Given the description of an element on the screen output the (x, y) to click on. 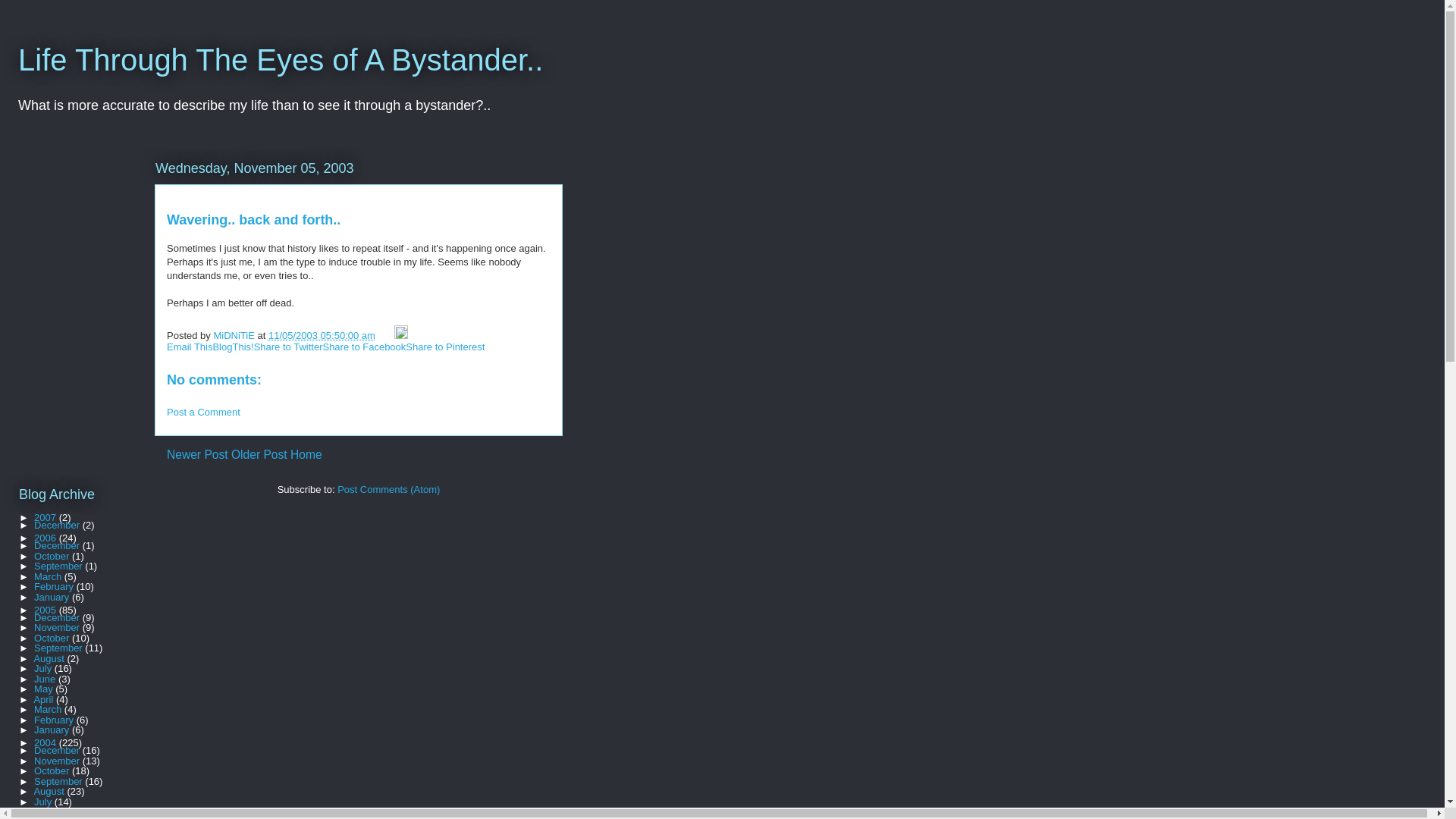
Edit Post (400, 335)
Newer Post (197, 454)
Life Through The Eyes of A Bystander.. (280, 59)
Share to Facebook (363, 346)
Share to Pinterest (445, 346)
author profile (234, 335)
BlogThis! (232, 346)
Older Post (258, 454)
Email Post (386, 335)
December (57, 617)
Share to Facebook (363, 346)
December (57, 545)
Share to Twitter (288, 346)
October (52, 555)
2006 (46, 537)
